Given the description of an element on the screen output the (x, y) to click on. 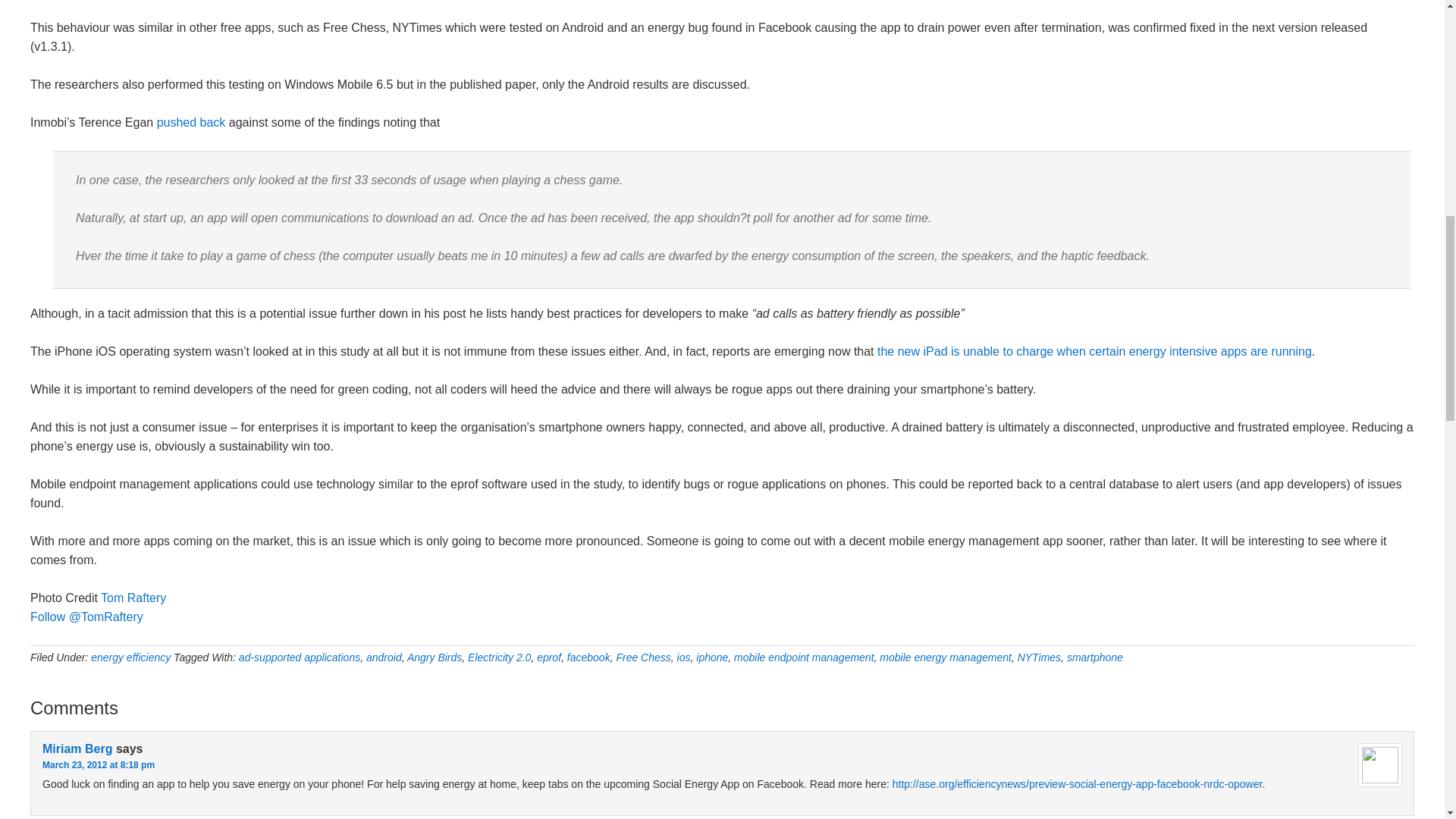
Tom Raftery (132, 597)
Tom Raftery (132, 597)
pushed back (191, 122)
